Given the description of an element on the screen output the (x, y) to click on. 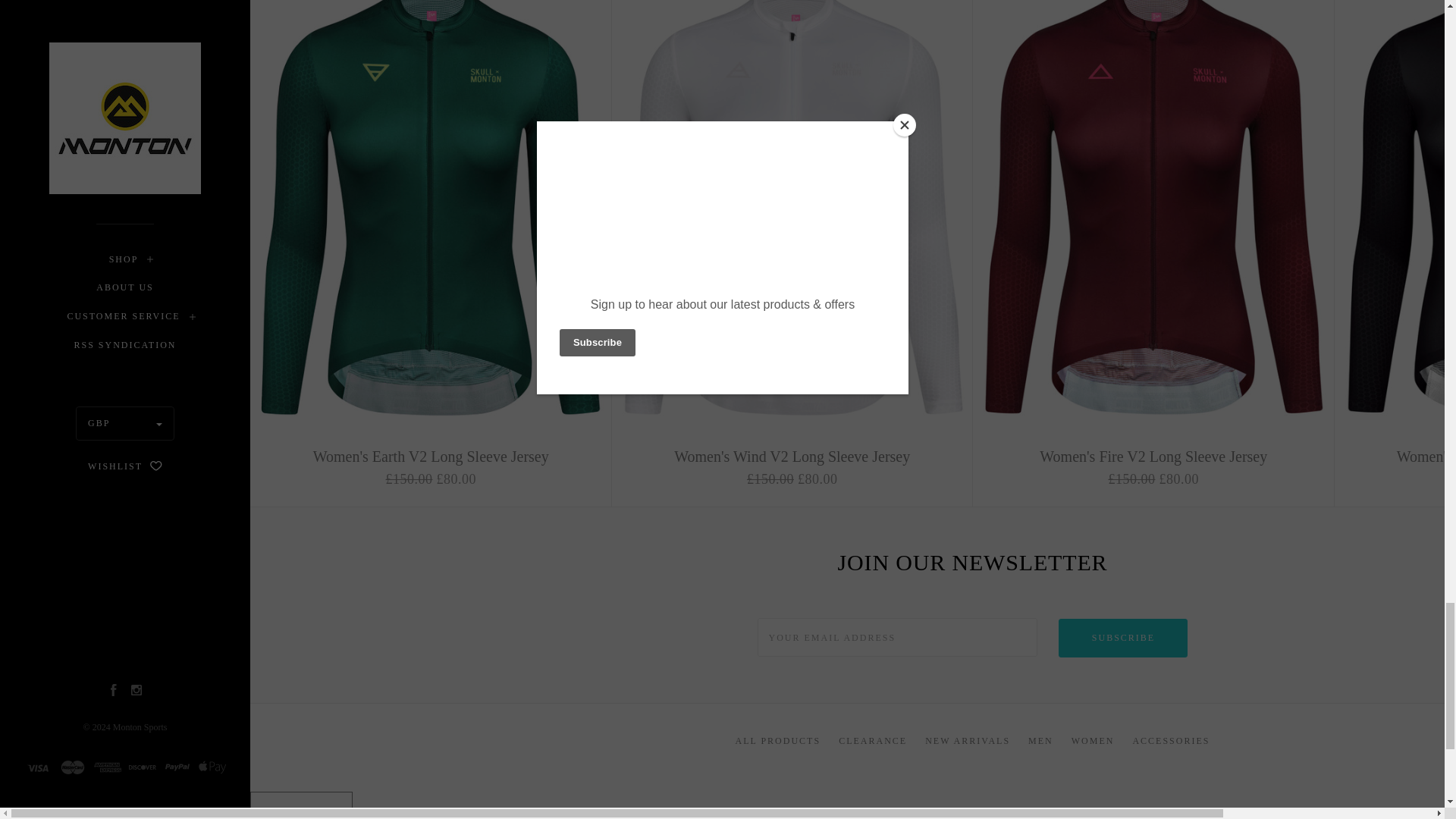
Subscribe (1123, 638)
